Given the description of an element on the screen output the (x, y) to click on. 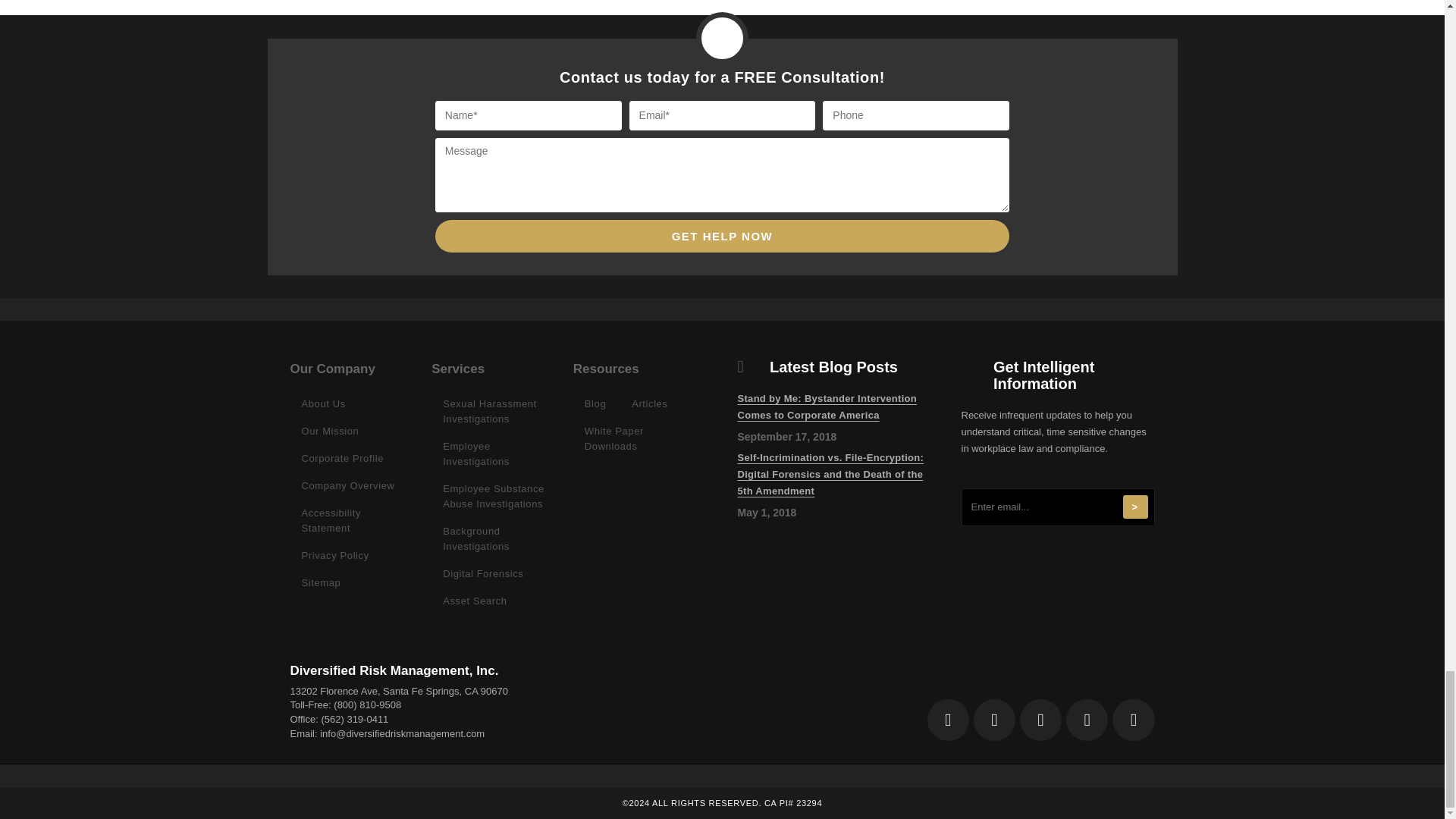
GET HELP NOW (722, 236)
